Given the description of an element on the screen output the (x, y) to click on. 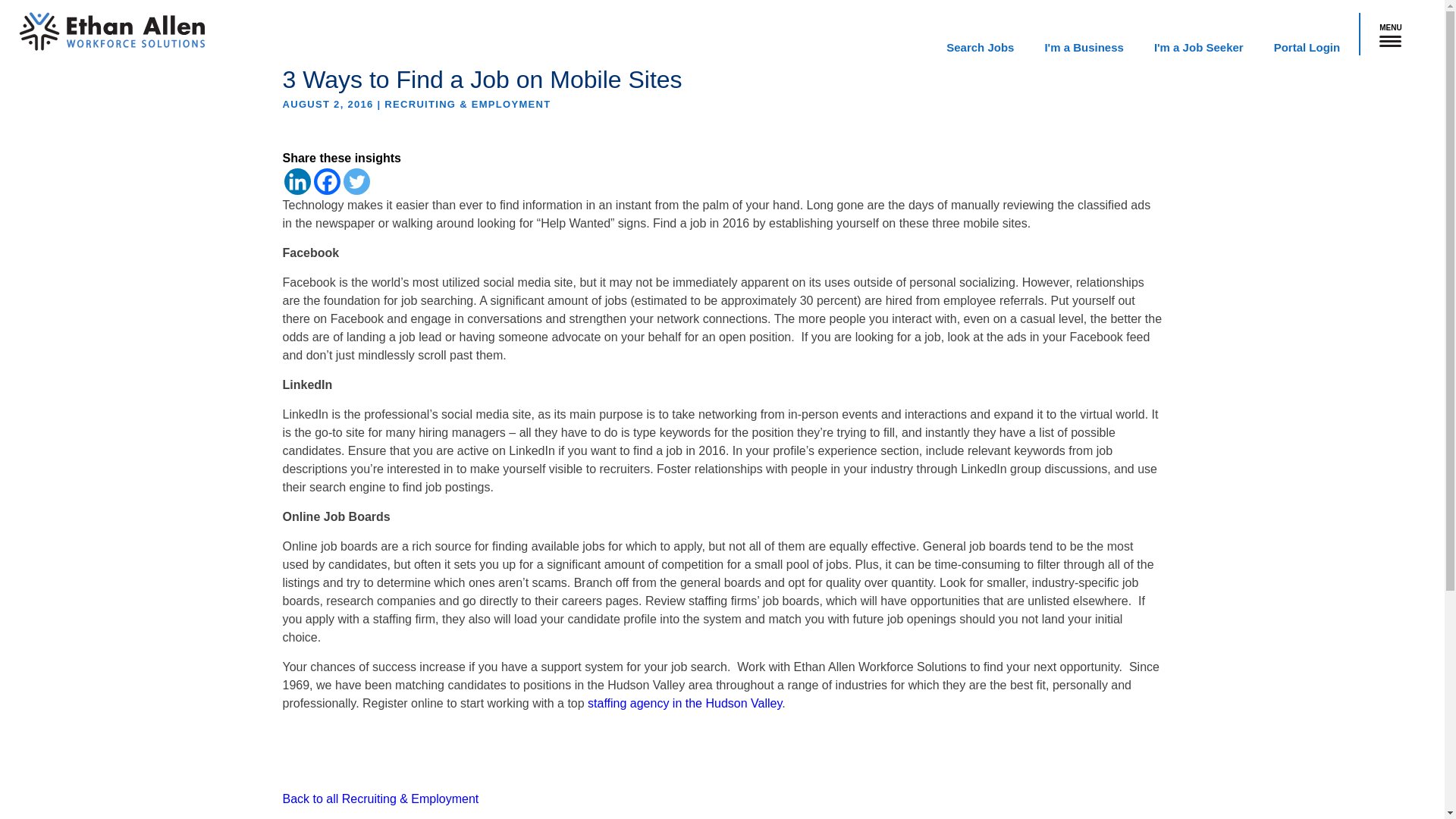
Twitter (355, 181)
MENU (1392, 33)
Search Jobs (979, 47)
I'm a Business (1082, 47)
Linkedin (296, 181)
I'm a Job Seeker (1198, 47)
Portal Login (1307, 47)
Facebook (327, 181)
staffing agency in the Hudson Valley (684, 703)
